Given the description of an element on the screen output the (x, y) to click on. 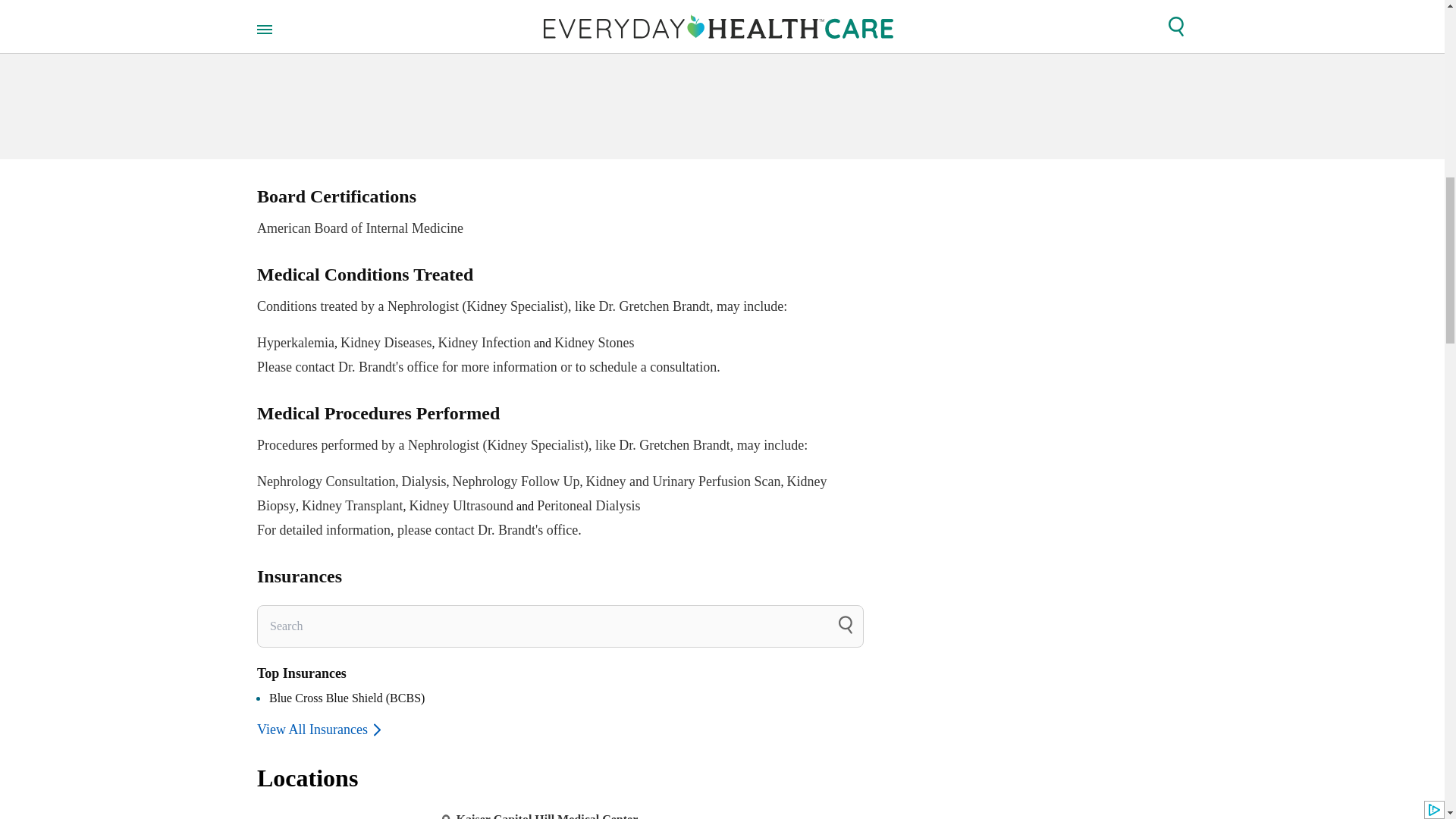
Kidney Stones (594, 342)
Nephrology Follow Up (515, 481)
Kidney Biopsy (542, 493)
Peritoneal Dialysis (588, 505)
Kidney Infection (483, 342)
Dialysis (423, 481)
Hyperkalemia (295, 342)
Kidney Transplant (352, 505)
Kidney Diseases (385, 342)
Kidney and Urinary Perfusion Scan (560, 213)
Nephrology Consultation (683, 481)
Kidney Ultrasound (326, 481)
